Given the description of an element on the screen output the (x, y) to click on. 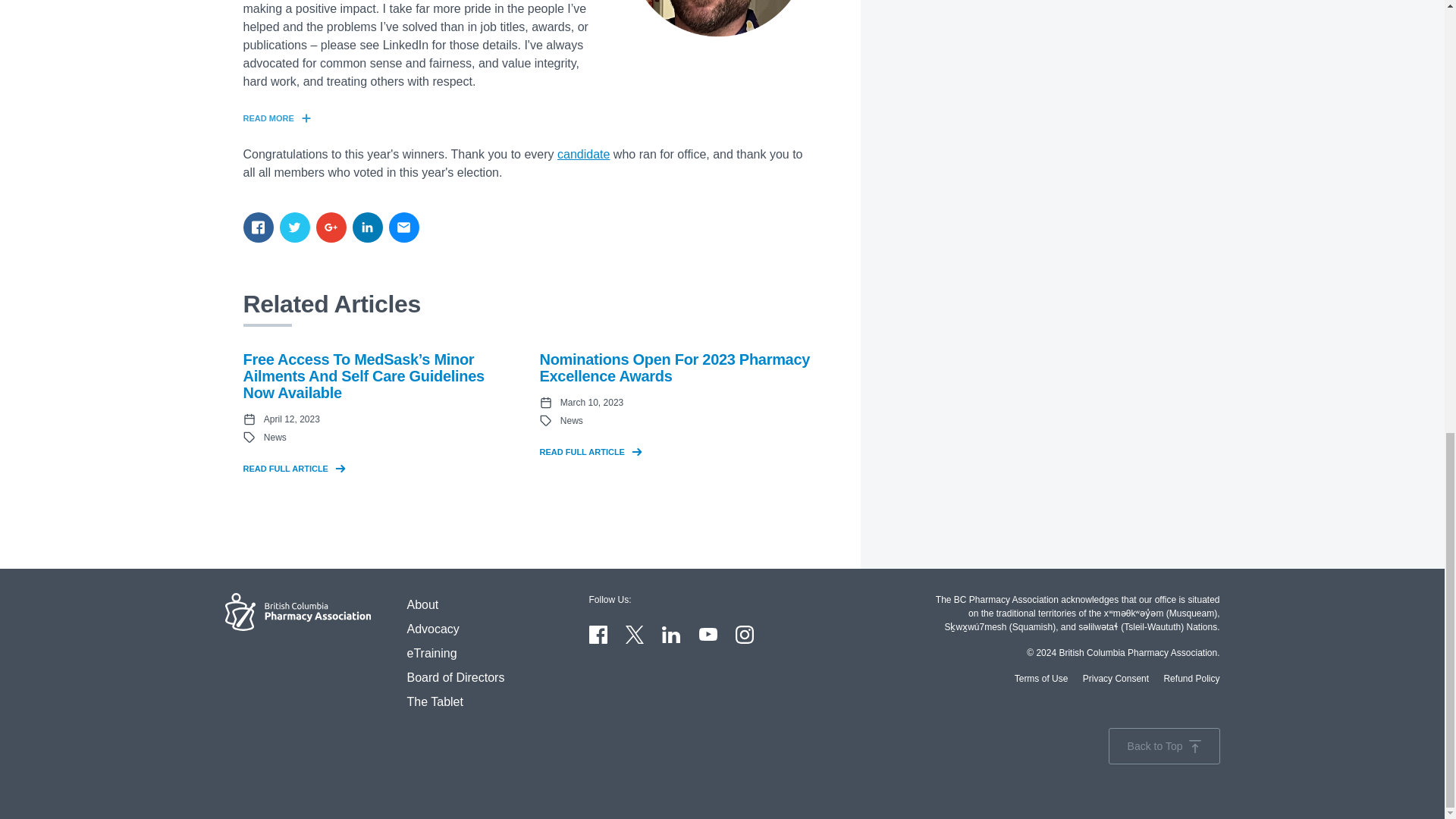
Back to Top (1164, 746)
